Given the description of an element on the screen output the (x, y) to click on. 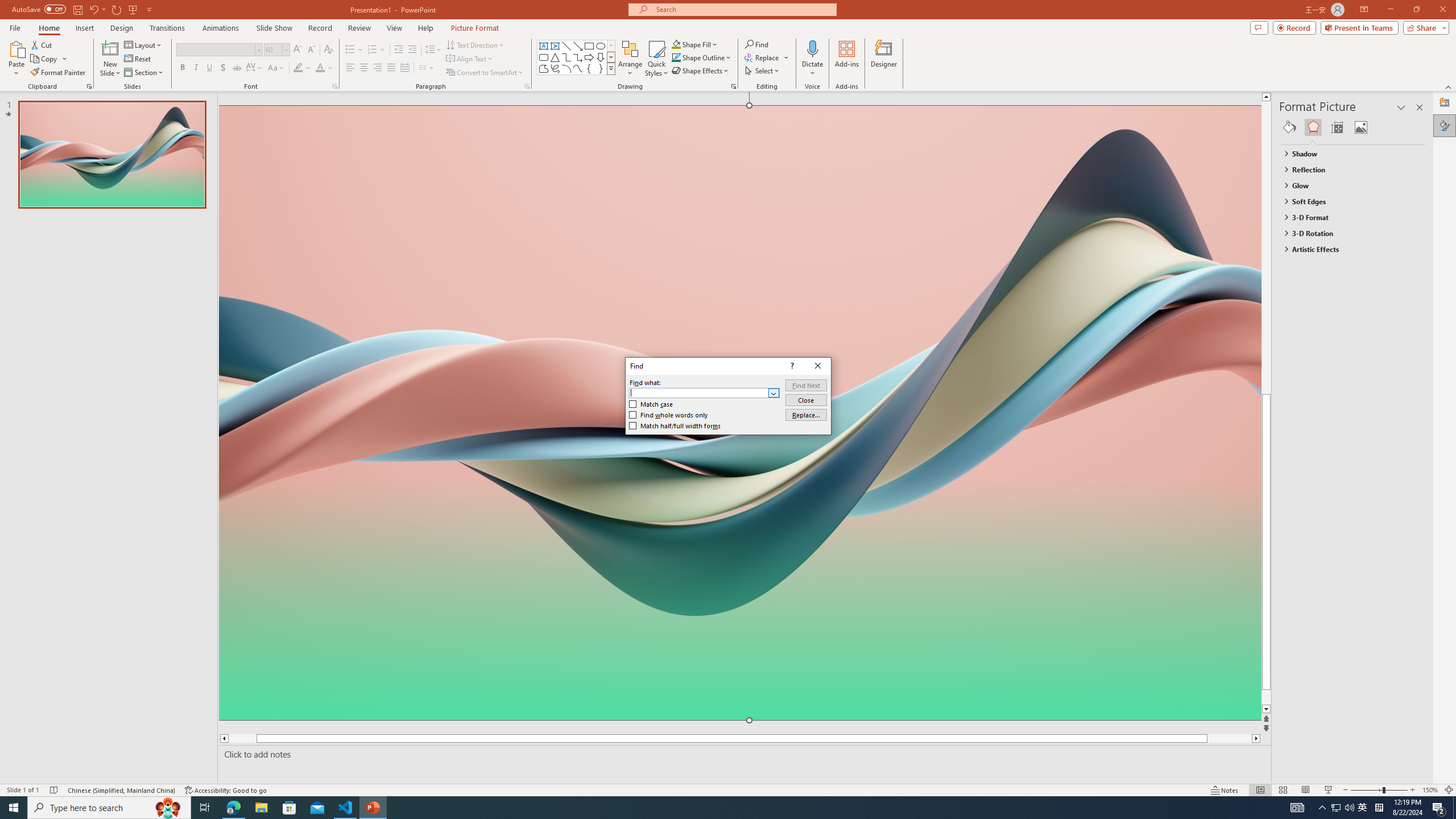
Microsoft Edge - 1 running window (233, 807)
Action Center, 2 new notifications (1439, 807)
Shape Outline Blue, Accent 1 (675, 56)
Effects (1313, 126)
